Given the description of an element on the screen output the (x, y) to click on. 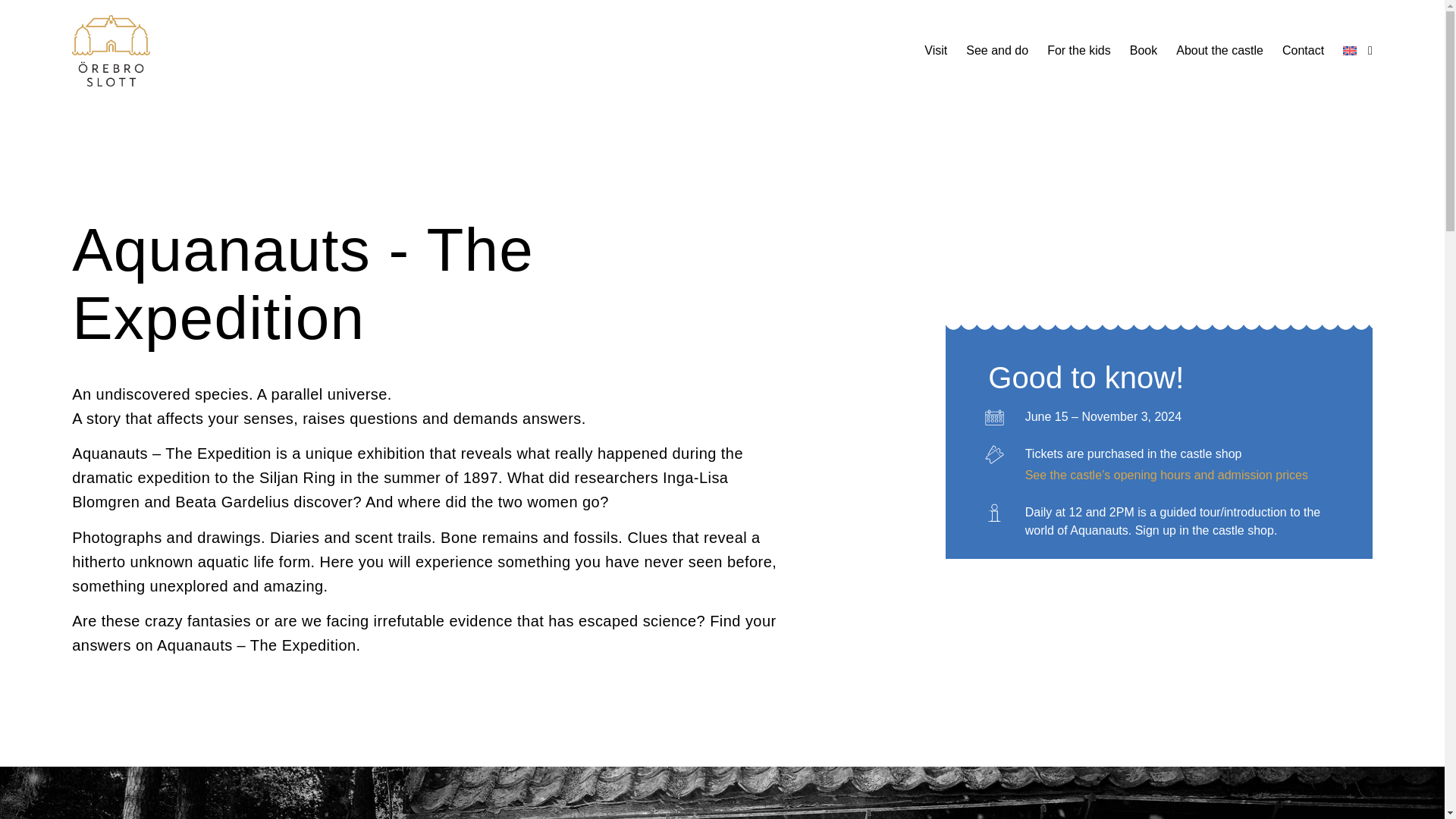
About the castle (1219, 50)
Book (1143, 50)
Contact (1302, 50)
Visit (935, 50)
See and do (996, 50)
For the kids (1078, 50)
